Given the description of an element on the screen output the (x, y) to click on. 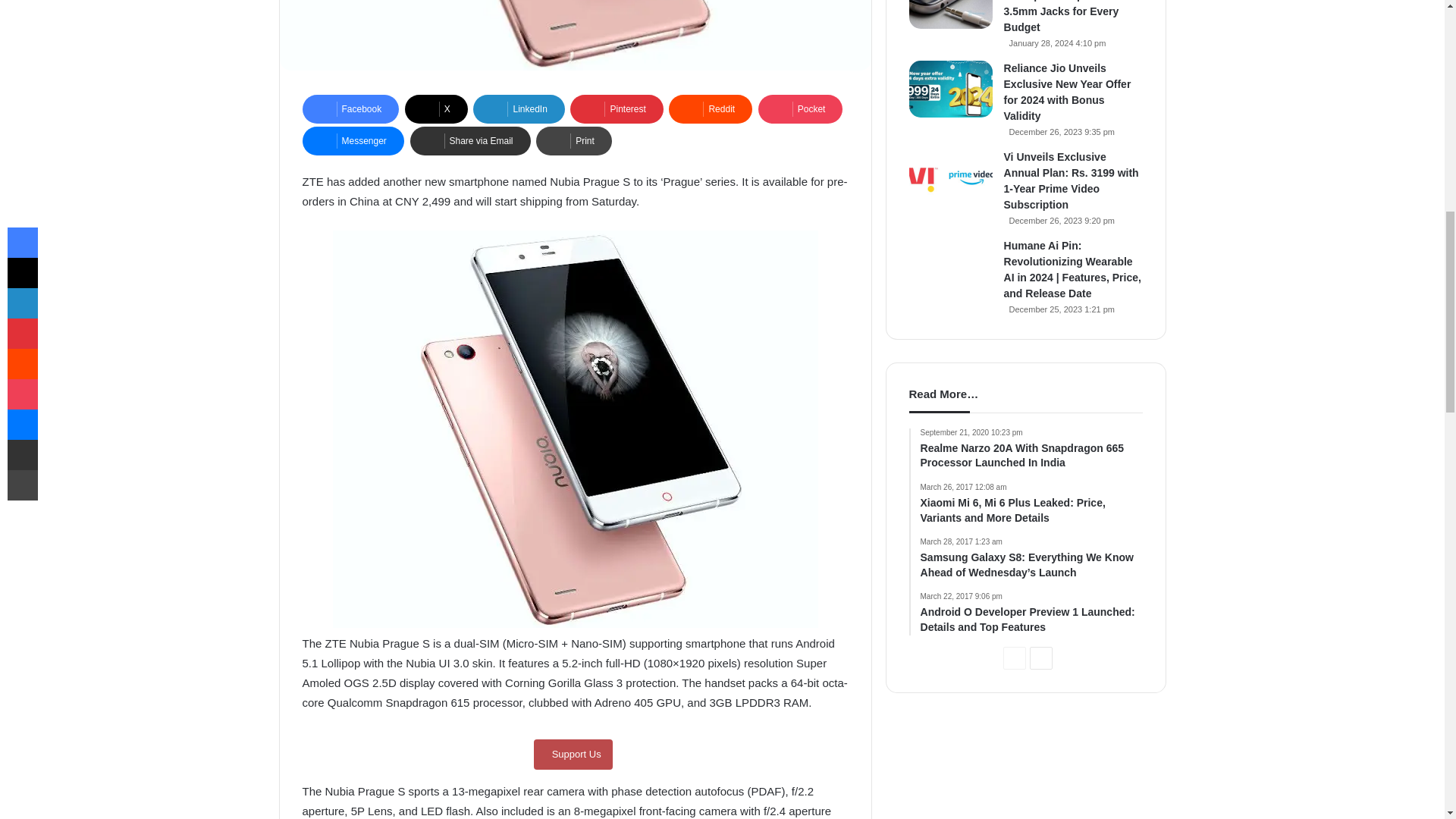
Messenger (352, 140)
Share via Email (469, 140)
X (435, 109)
Print (573, 140)
LinkedIn (518, 109)
Reddit (710, 109)
Facebook (349, 109)
Pocket (800, 109)
Pinterest (616, 109)
